Given the description of an element on the screen output the (x, y) to click on. 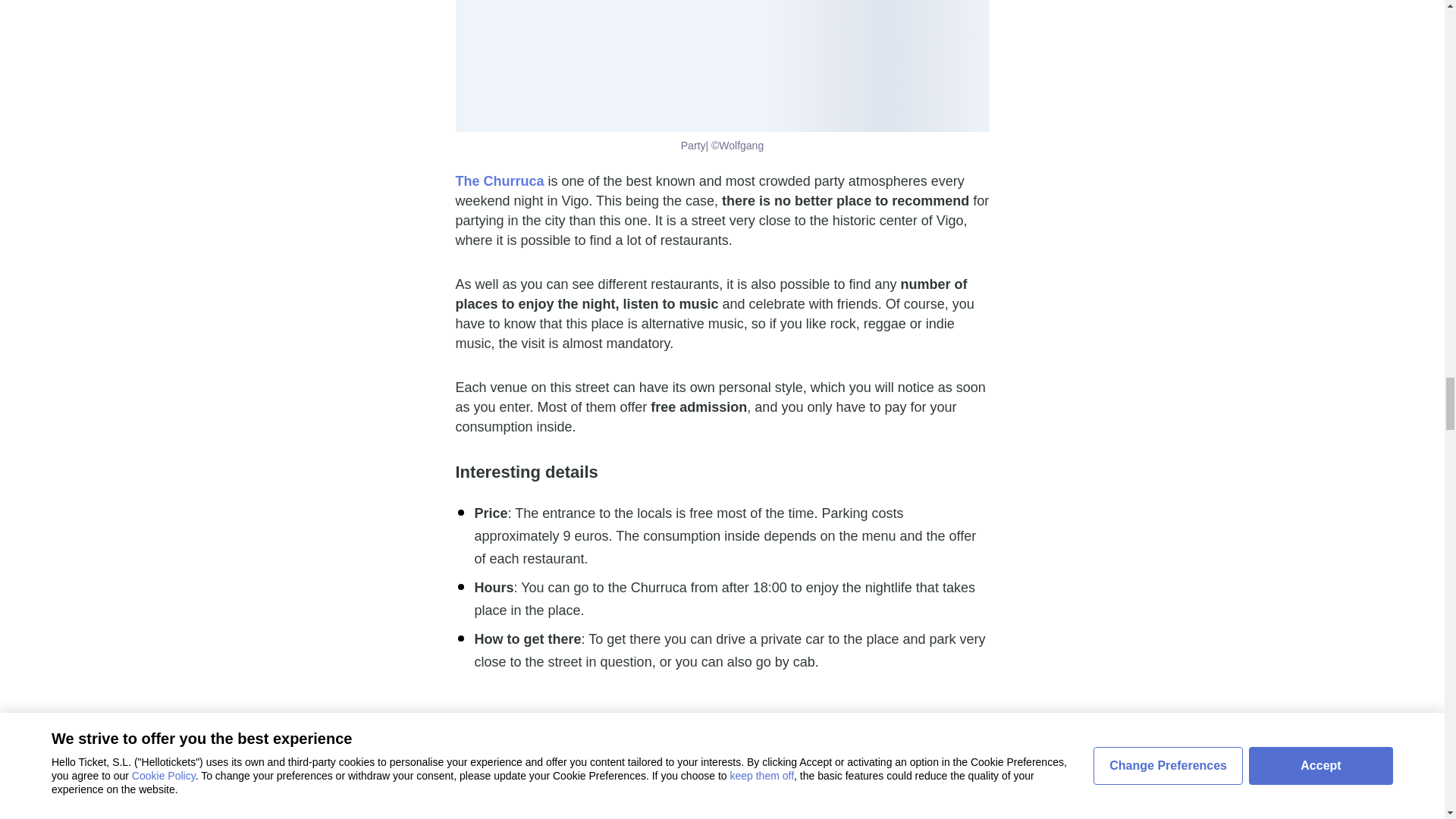
The Churruca (498, 181)
